Given the description of an element on the screen output the (x, y) to click on. 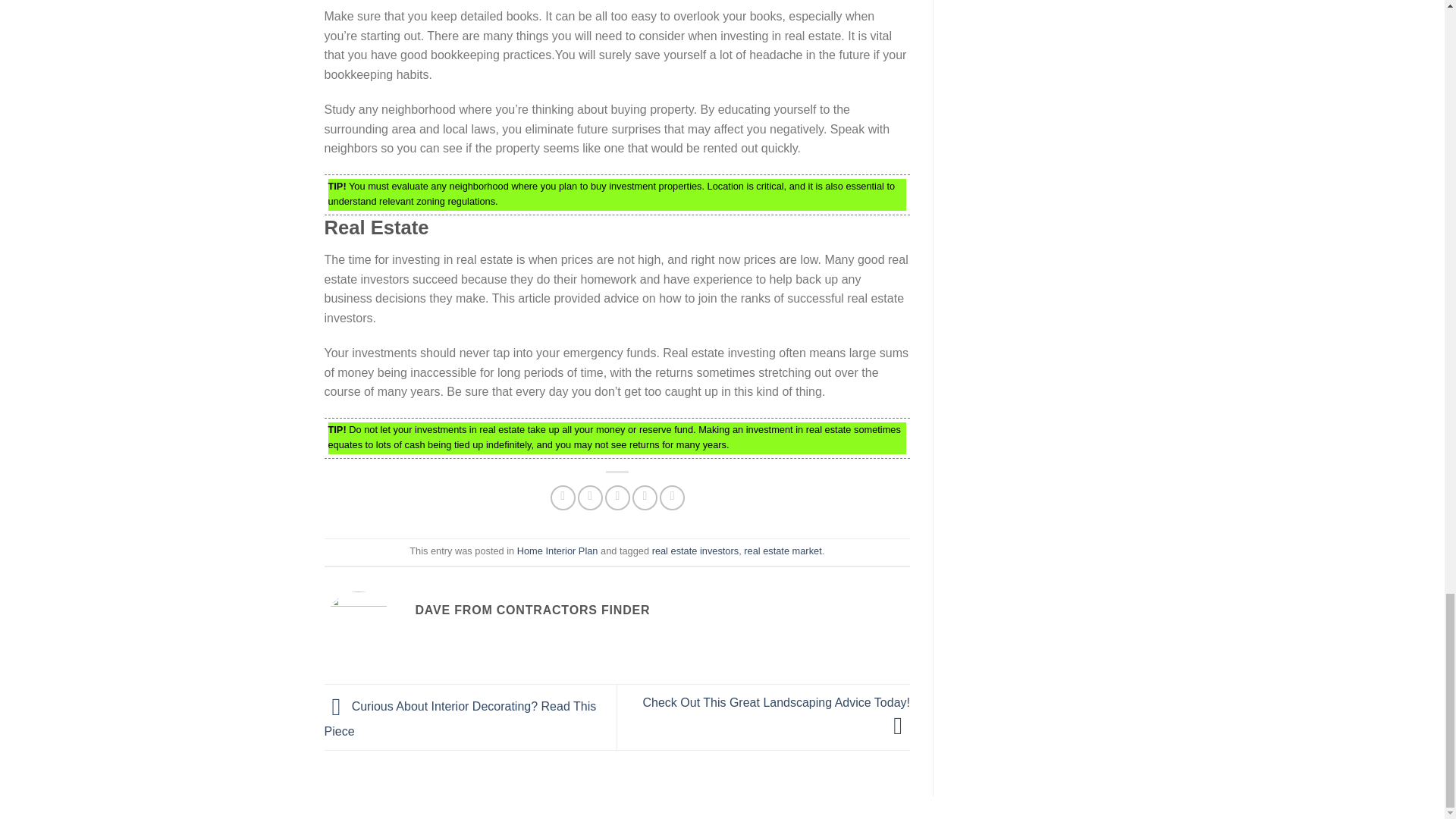
real estate investors (695, 550)
Share on Facebook (562, 497)
Share on LinkedIn (671, 497)
real estate market (782, 550)
Home Interior Plan (557, 550)
Curious About Interior Decorating? Read This Piece (460, 718)
Share on Twitter (590, 497)
Check Out This Great Landscaping Advice Today! (777, 714)
Pin on Pinterest (644, 497)
Email to a Friend (617, 497)
